Given the description of an element on the screen output the (x, y) to click on. 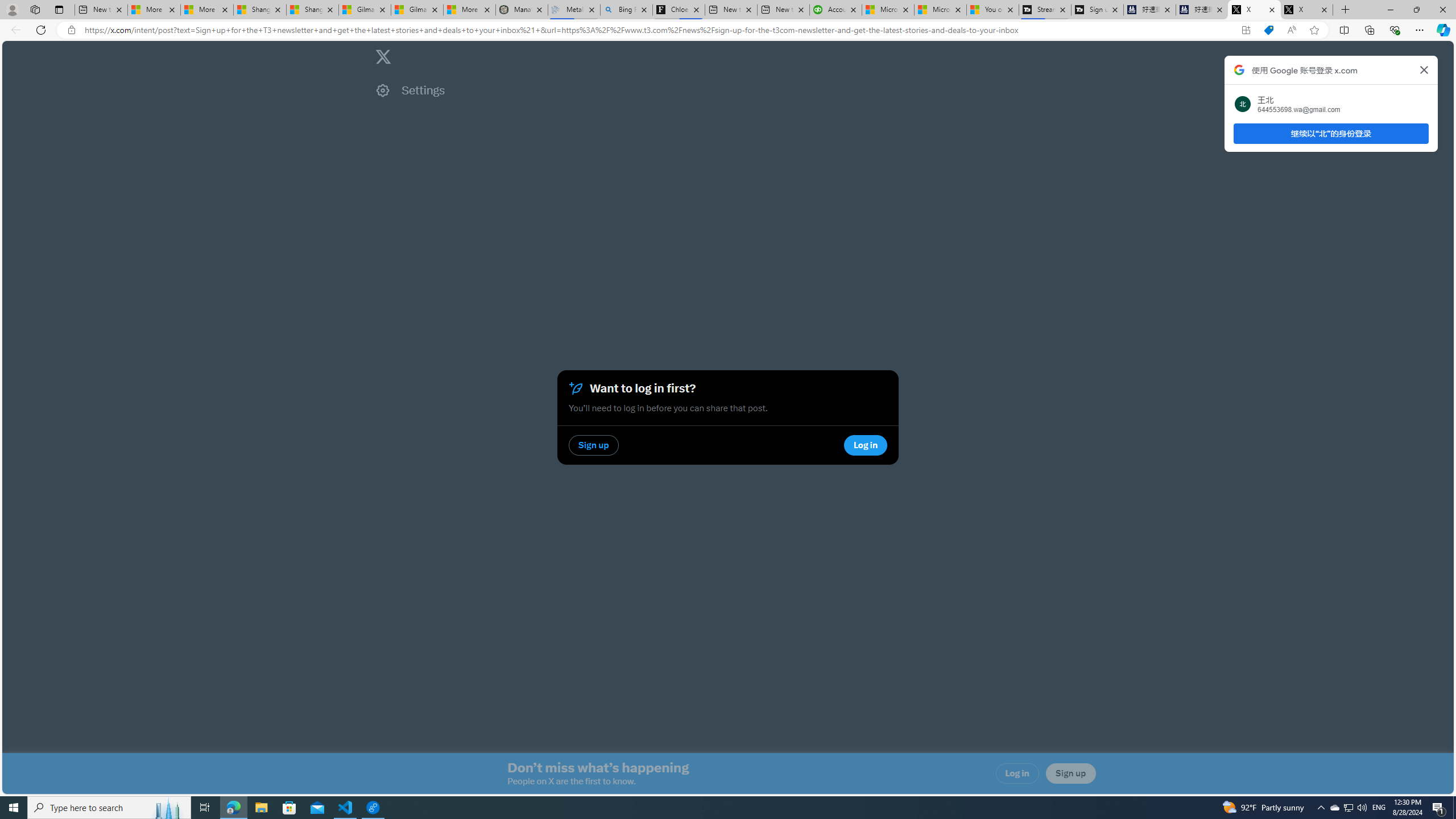
Bing Real Estate - Home sales and rental listings (626, 9)
Shopping in Microsoft Edge (1268, 29)
Log in (1017, 773)
